Given the description of an element on the screen output the (x, y) to click on. 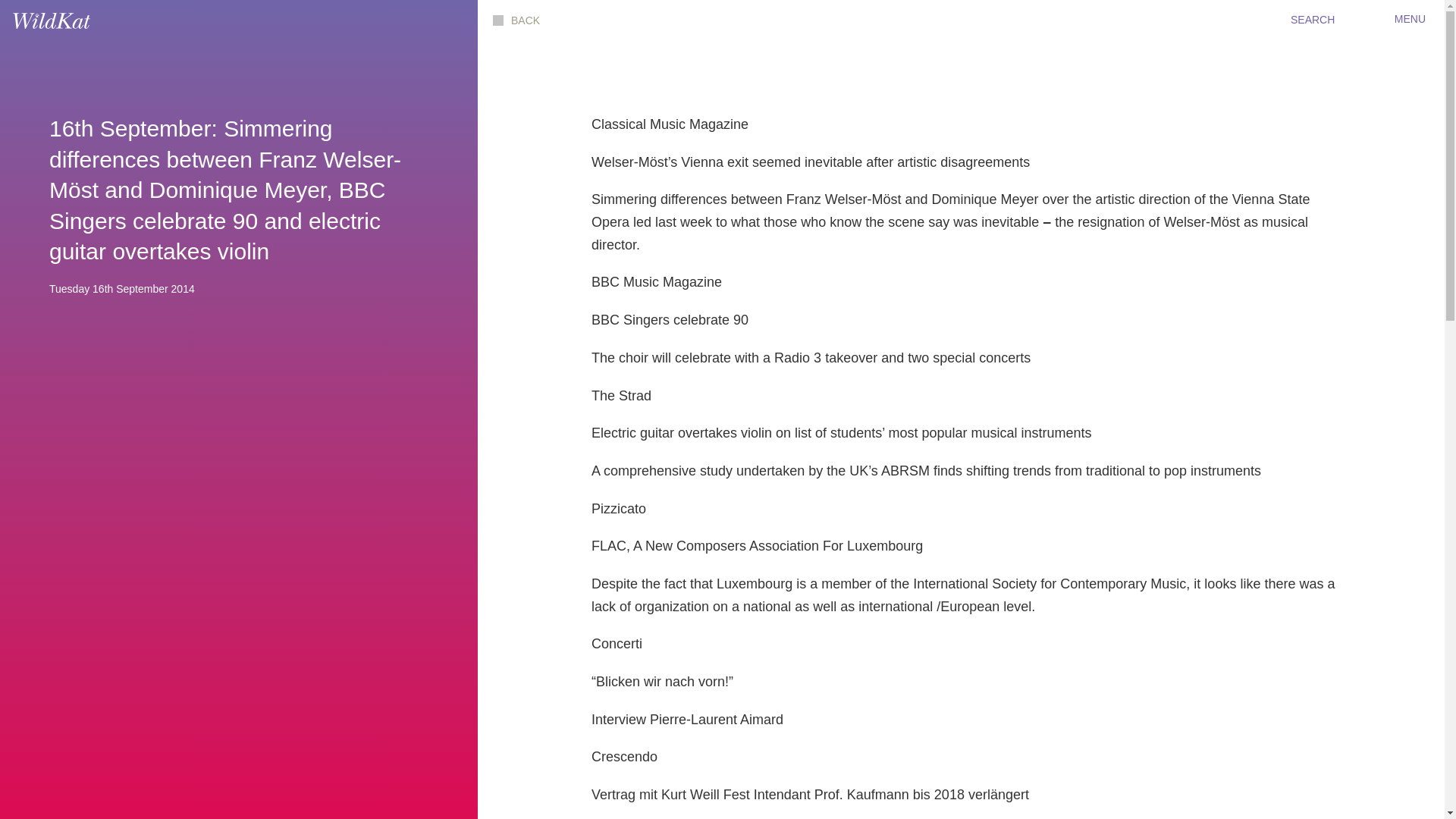
BBC Singers celebrate 90 (669, 319)
FLAC, A New Composers Association For Luxembourg (757, 545)
BACK (516, 20)
